Given the description of an element on the screen output the (x, y) to click on. 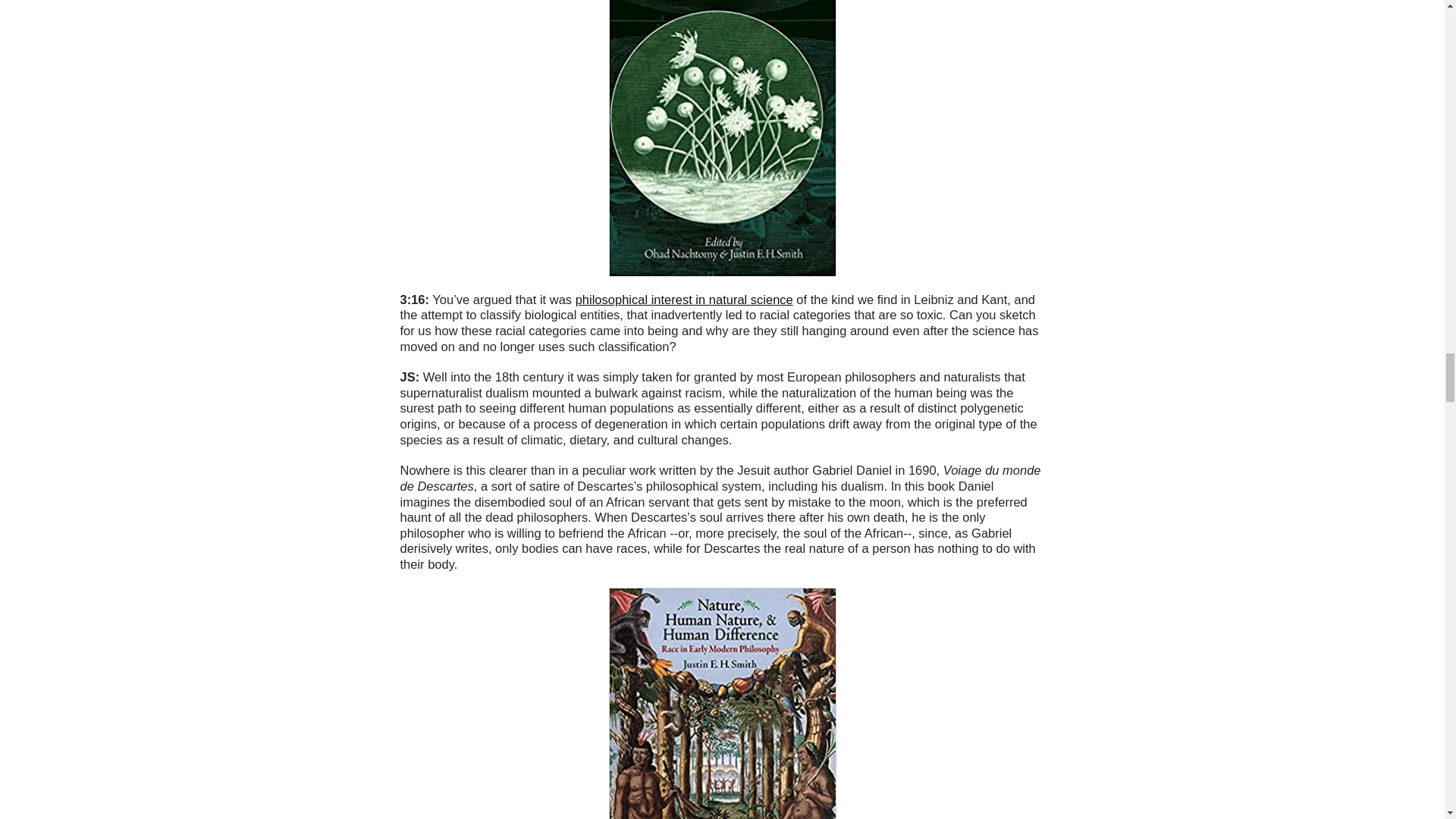
philosophical interest in natural science (684, 299)
